Given the description of an element on the screen output the (x, y) to click on. 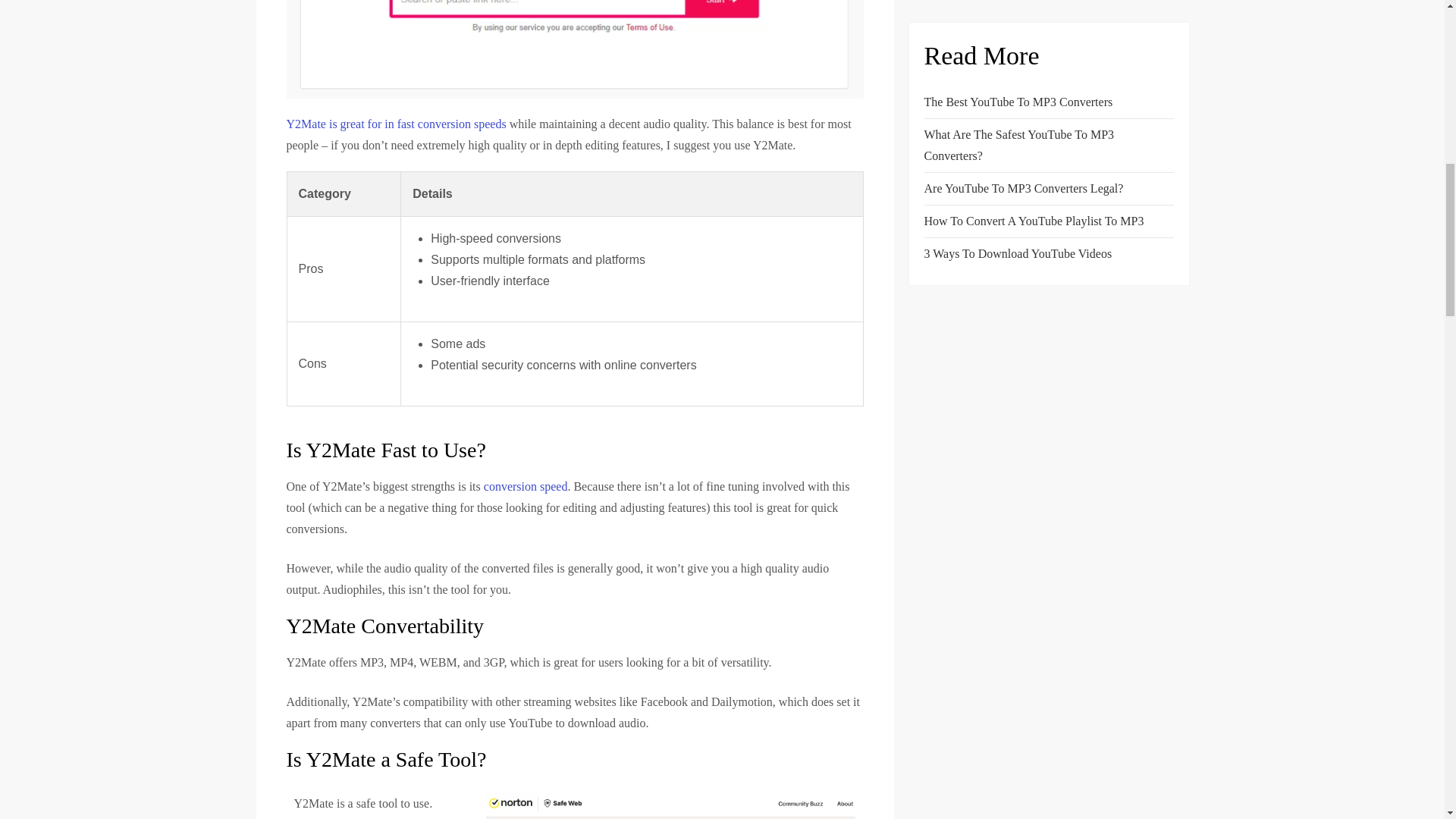
conversion speed (525, 486)
Y2Mate is great for in fast conversion speeds (396, 123)
